Given the description of an element on the screen output the (x, y) to click on. 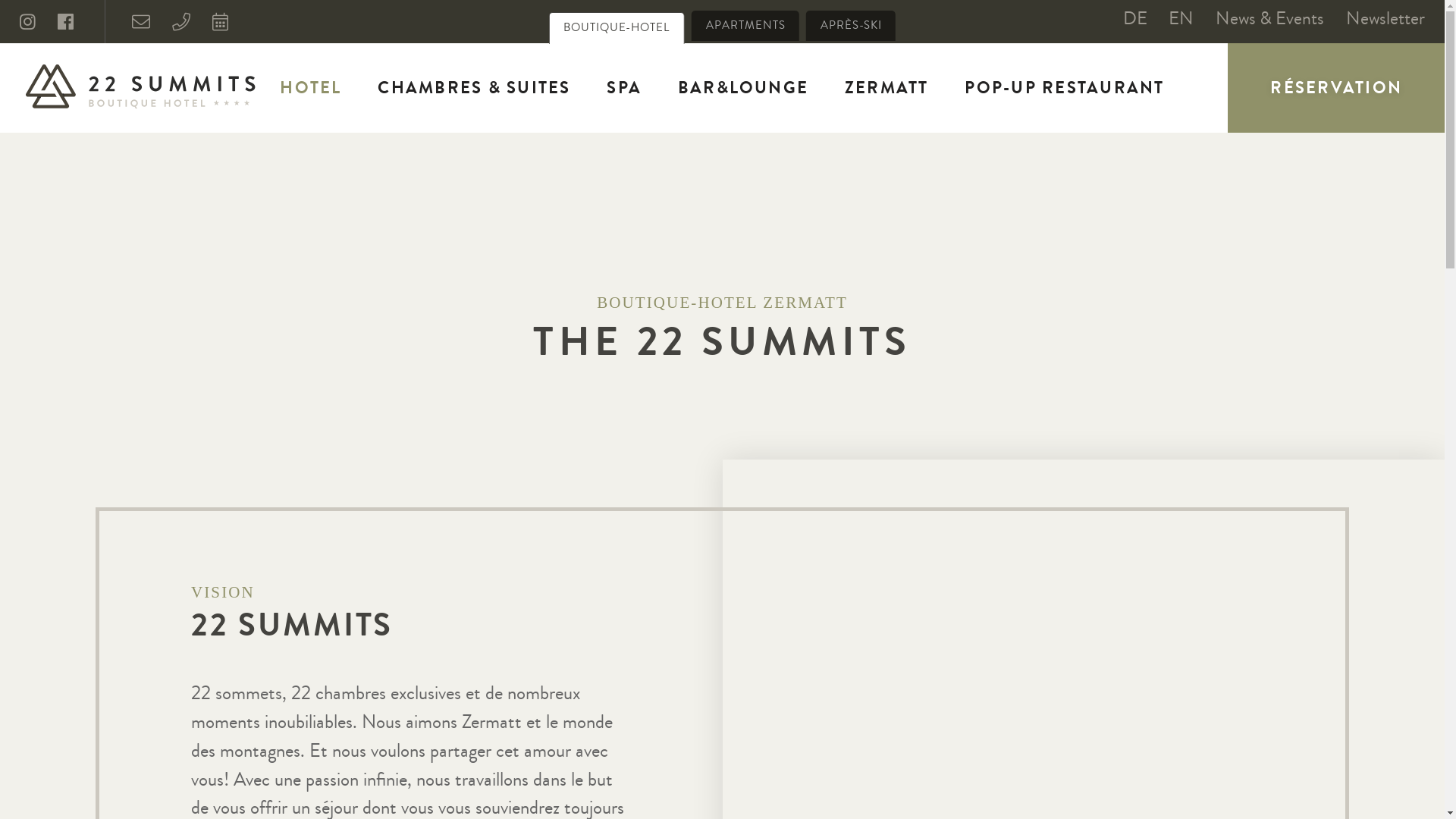
HOTEL Element type: text (310, 87)
Newsletter Element type: text (1385, 18)
SPA Element type: text (623, 87)
EN Element type: text (1180, 18)
CHAMBRES & SUITES Element type: text (473, 87)
BAR&LOUNGE Element type: text (742, 87)
News & Events Element type: text (1269, 18)
ZERMATT Element type: text (886, 87)
POP-UP RESTAURANT Element type: text (1064, 87)
BOUTIQUE-HOTEL Element type: text (616, 28)
APARTMENTS Element type: text (745, 25)
DE Element type: text (1134, 18)
